Given the description of an element on the screen output the (x, y) to click on. 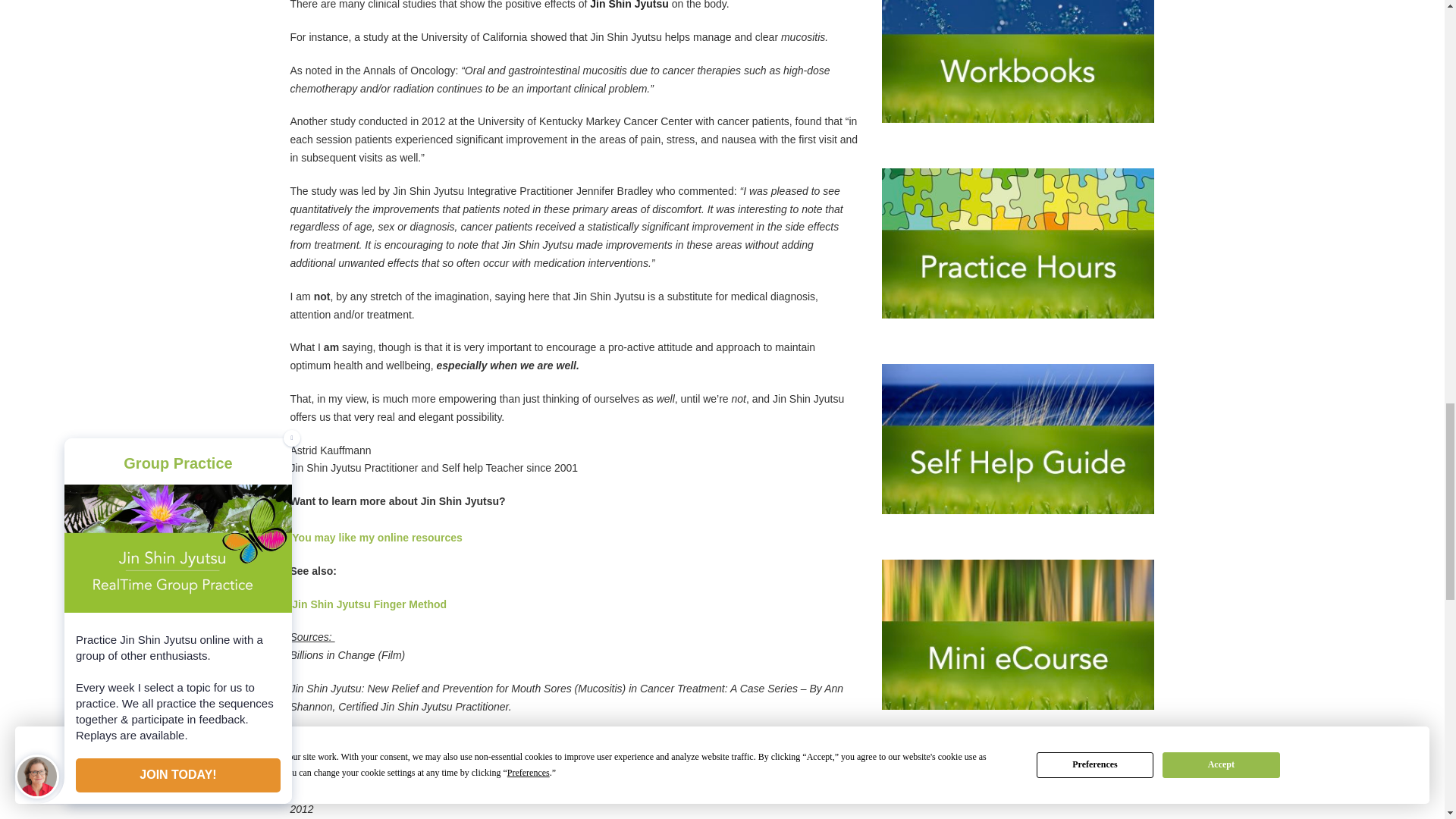
Jin Shin Jyutsu (628, 4)
Jin Shin Jyutsu Finger Method (368, 604)
You may like my online resources (376, 537)
